Given the description of an element on the screen output the (x, y) to click on. 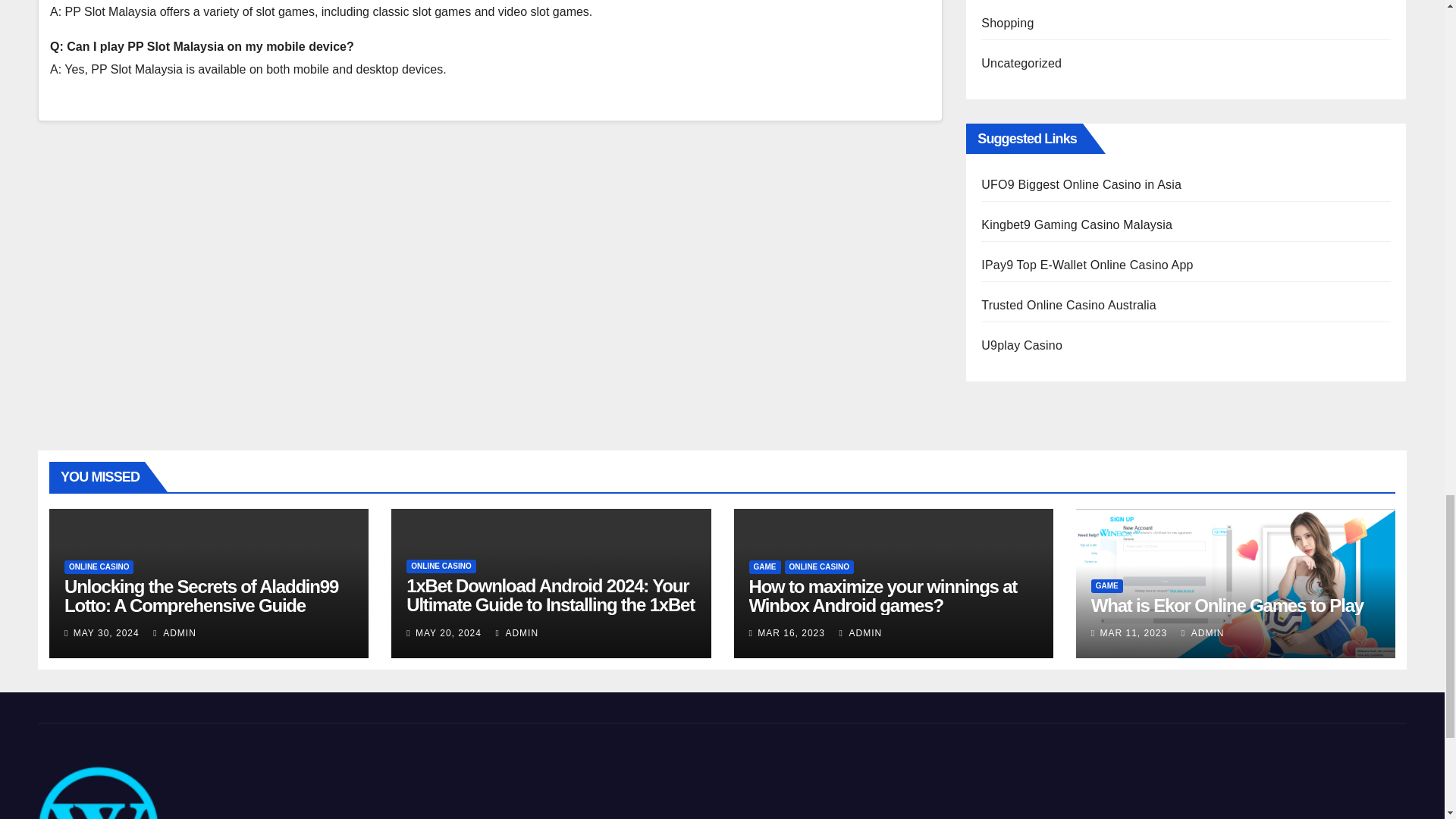
Permalink to: What is Ekor Online Games to Play (1226, 605)
Kingbet9 Gaming Casino Malaysia (1076, 224)
Shopping (1007, 22)
UFO9 Biggest Online Casino in Asia (1080, 184)
Uncategorized (1021, 62)
